Given the description of an element on the screen output the (x, y) to click on. 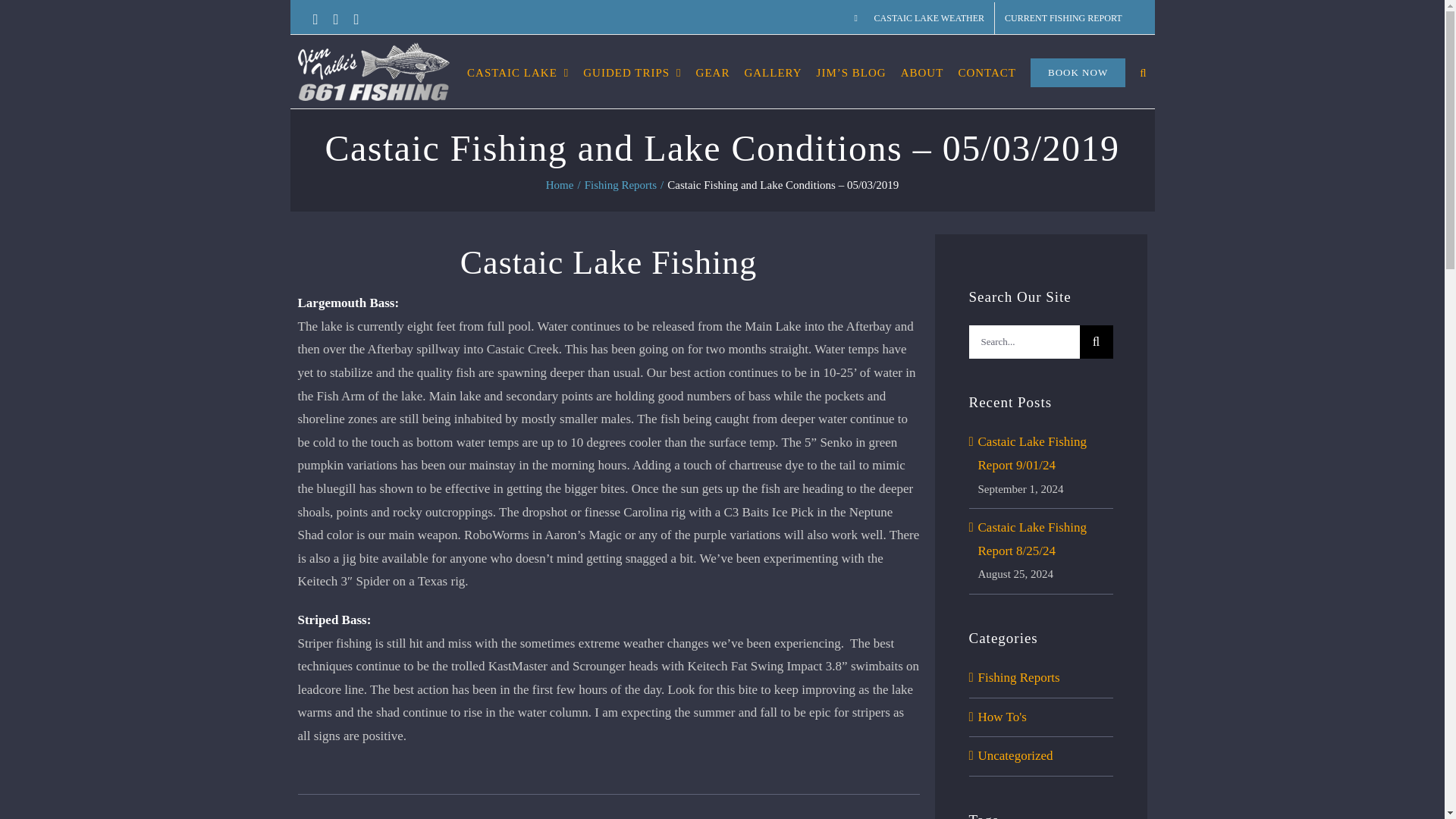
CURRENT FISHING REPORT (1062, 18)
CASTAIC LAKE (518, 71)
GUIDED TRIPS (632, 71)
BOOK NOW (1077, 71)
CASTAIC LAKE WEATHER (919, 18)
